Given the description of an element on the screen output the (x, y) to click on. 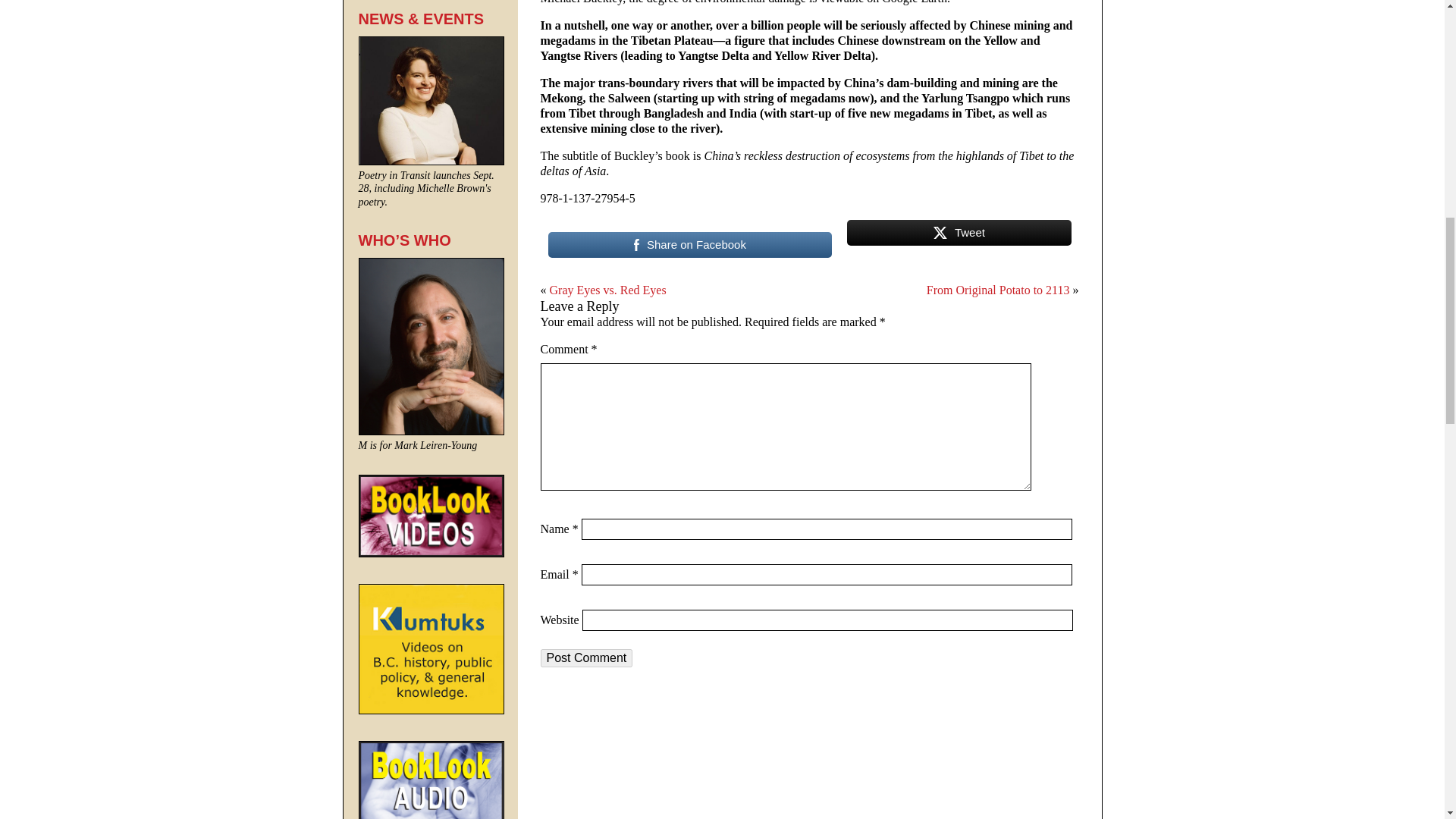
Post Comment (585, 658)
Share on Facebook (689, 238)
Tweet (958, 238)
